Given the description of an element on the screen output the (x, y) to click on. 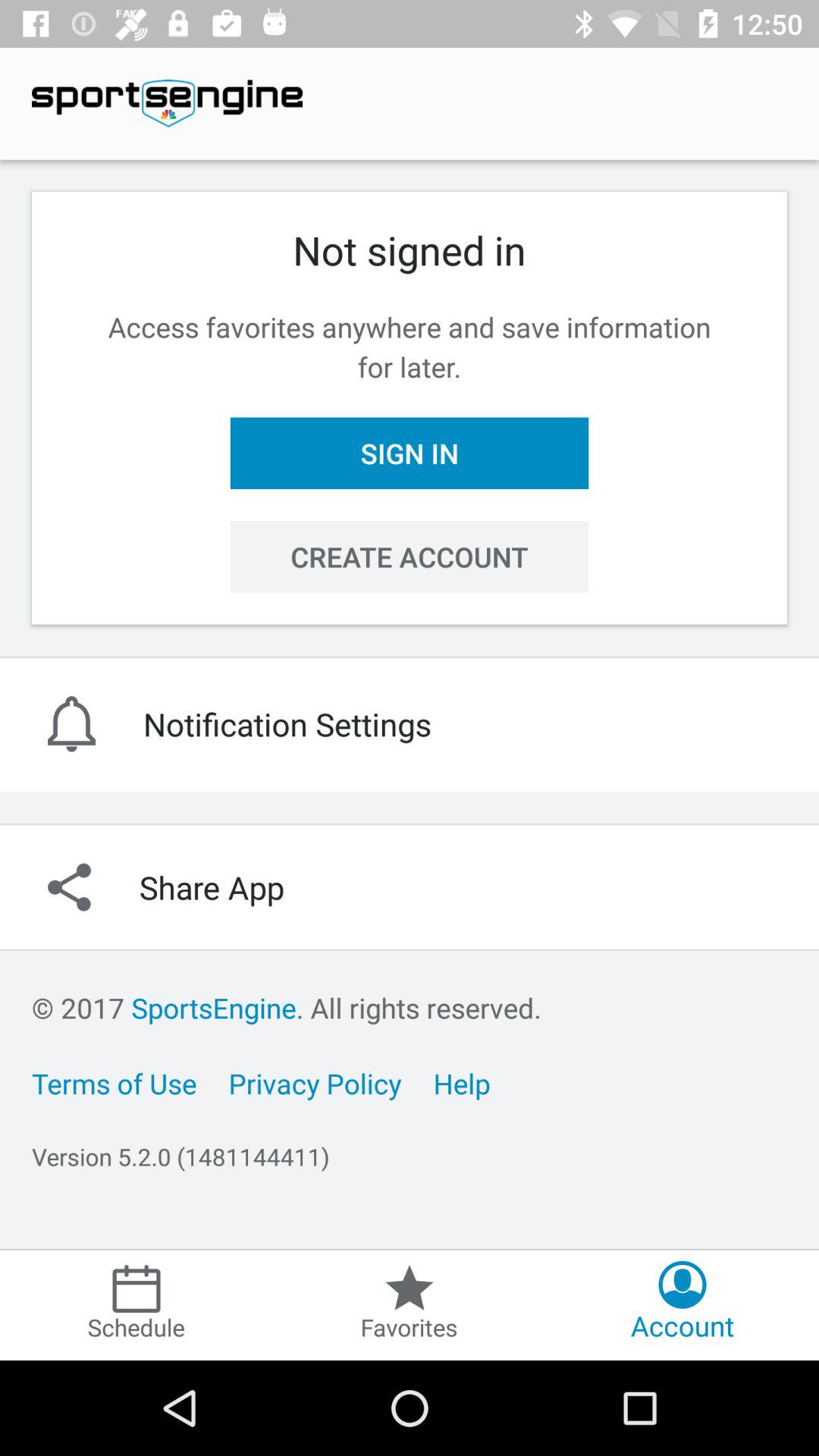
jump until the privacy policy (314, 1083)
